Given the description of an element on the screen output the (x, y) to click on. 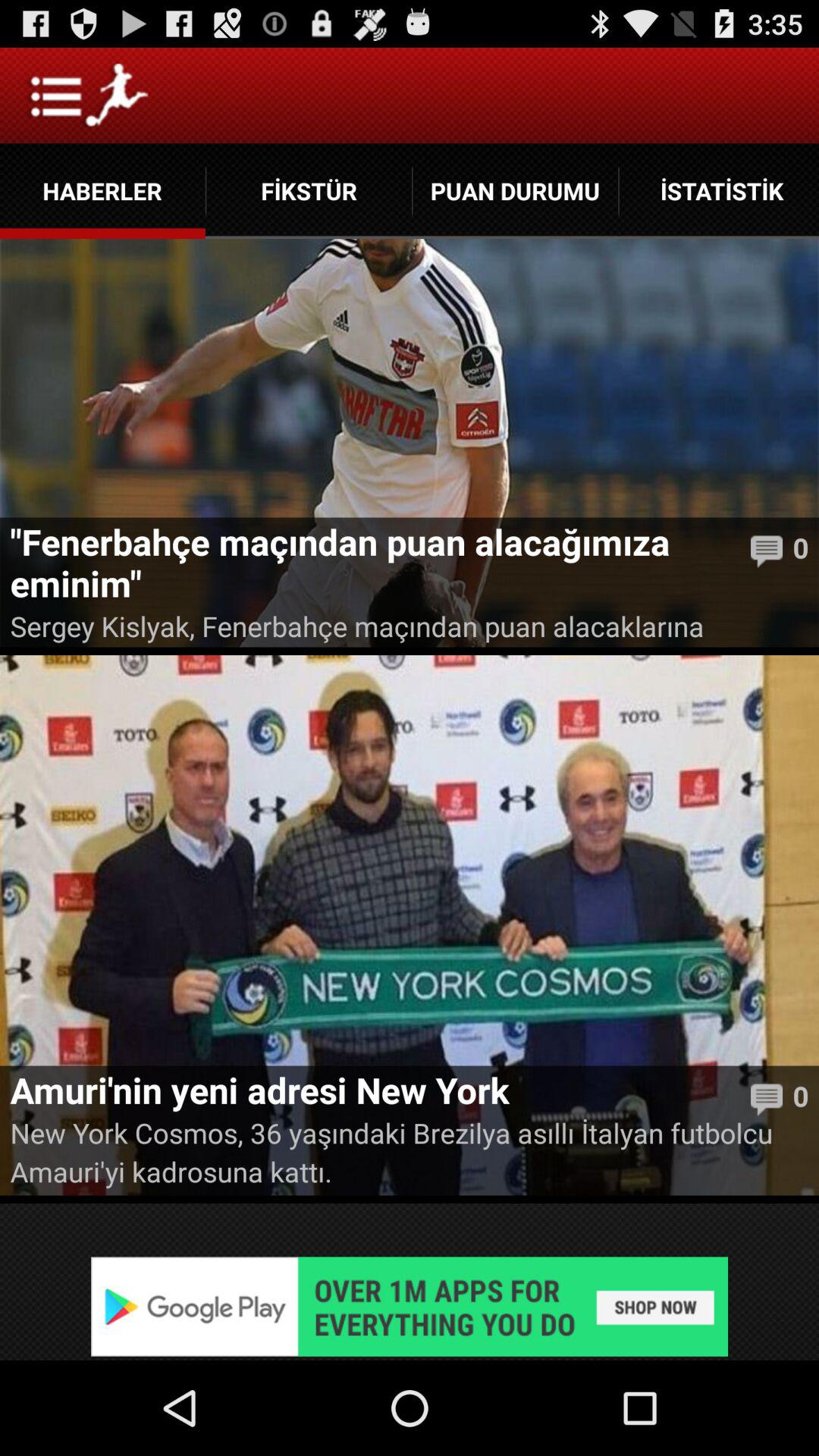
jump to puan durumu icon (515, 190)
